Given the description of an element on the screen output the (x, y) to click on. 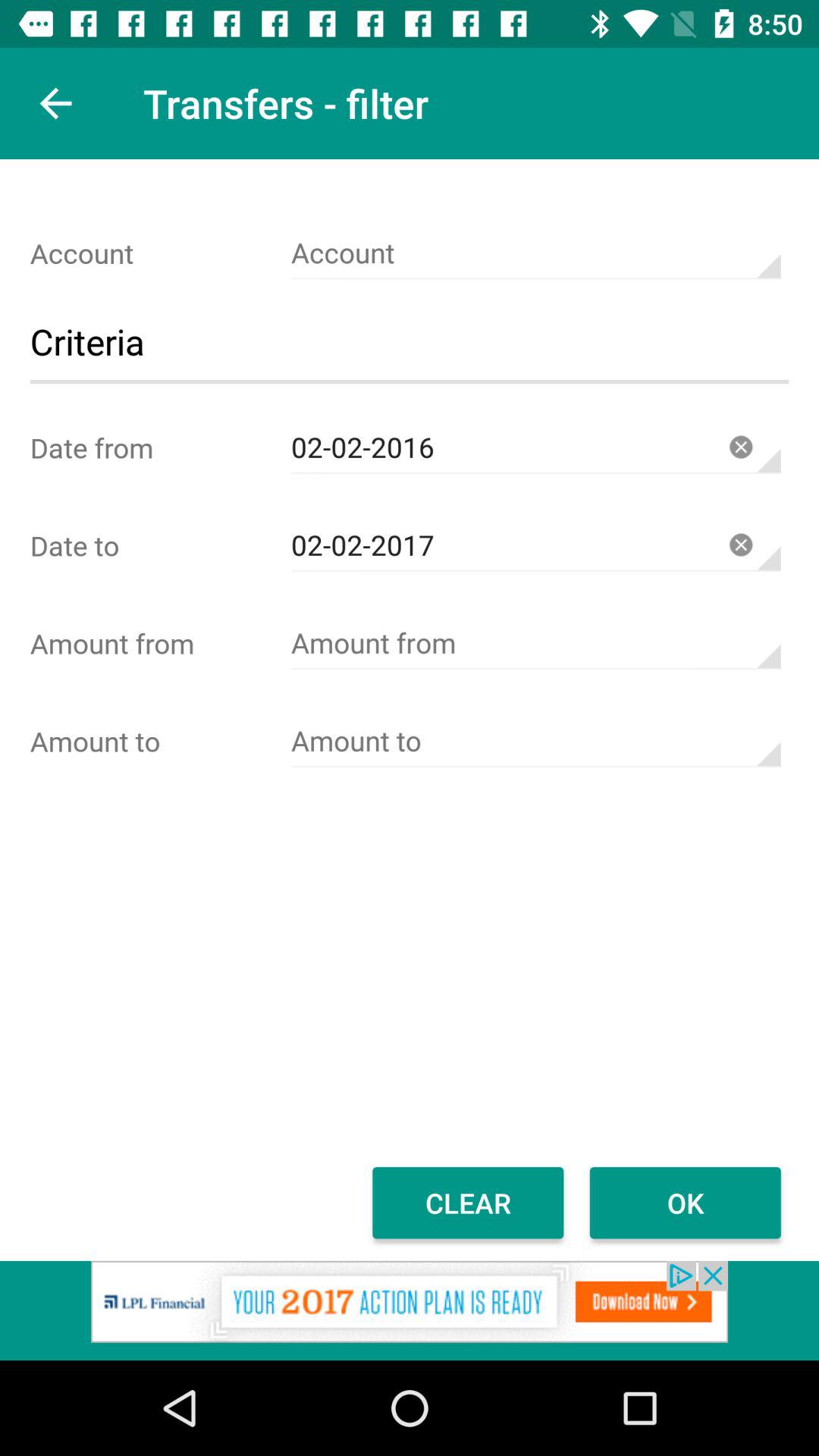
input account information (535, 253)
